Given the description of an element on the screen output the (x, y) to click on. 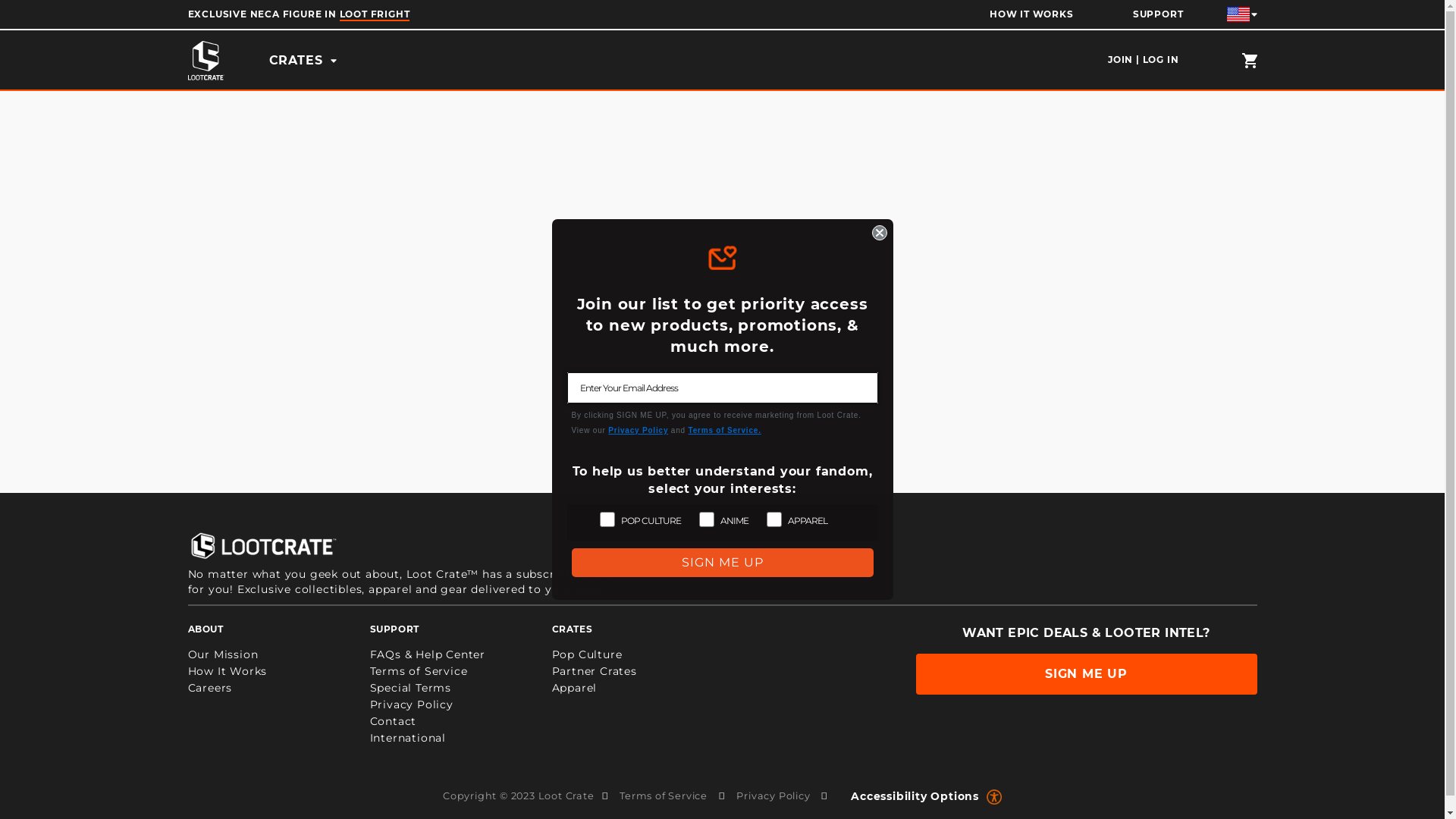
home Element type: hover (206, 60)
SUPPORT Element type: text (1157, 14)
CRATES Element type: text (302, 60)
FAQs & Help Center Element type: text (427, 654)
Privacy Policy Element type: text (772, 794)
Close dialog 14 Element type: text (879, 232)
SIGN ME UP Element type: text (1086, 673)
Pop Culture Element type: text (587, 654)
Terms of Service Element type: text (663, 794)
How It Works Element type: text (227, 670)
Special Terms Element type: text (410, 687)
International Element type: text (407, 737)
HOW IT WORKS Element type: text (1031, 14)
Submit Element type: text (28, 9)
Our Mission Element type: text (223, 654)
Careers Element type: text (210, 687)
Privacy Policy Element type: text (411, 704)
LOOT FRIGHT Element type: text (374, 14)
JOIN | LOG IN Element type: text (1142, 59)
Partner Crates Element type: text (594, 670)
Privacy Policy Element type: text (638, 429)
Accessibility Options Element type: text (918, 802)
Apparel Element type: text (574, 687)
Terms of Service. Element type: text (724, 429)
Terms of Service Element type: text (418, 670)
SIGN ME UP Element type: text (722, 562)
Contact Element type: text (393, 721)
